Given the description of an element on the screen output the (x, y) to click on. 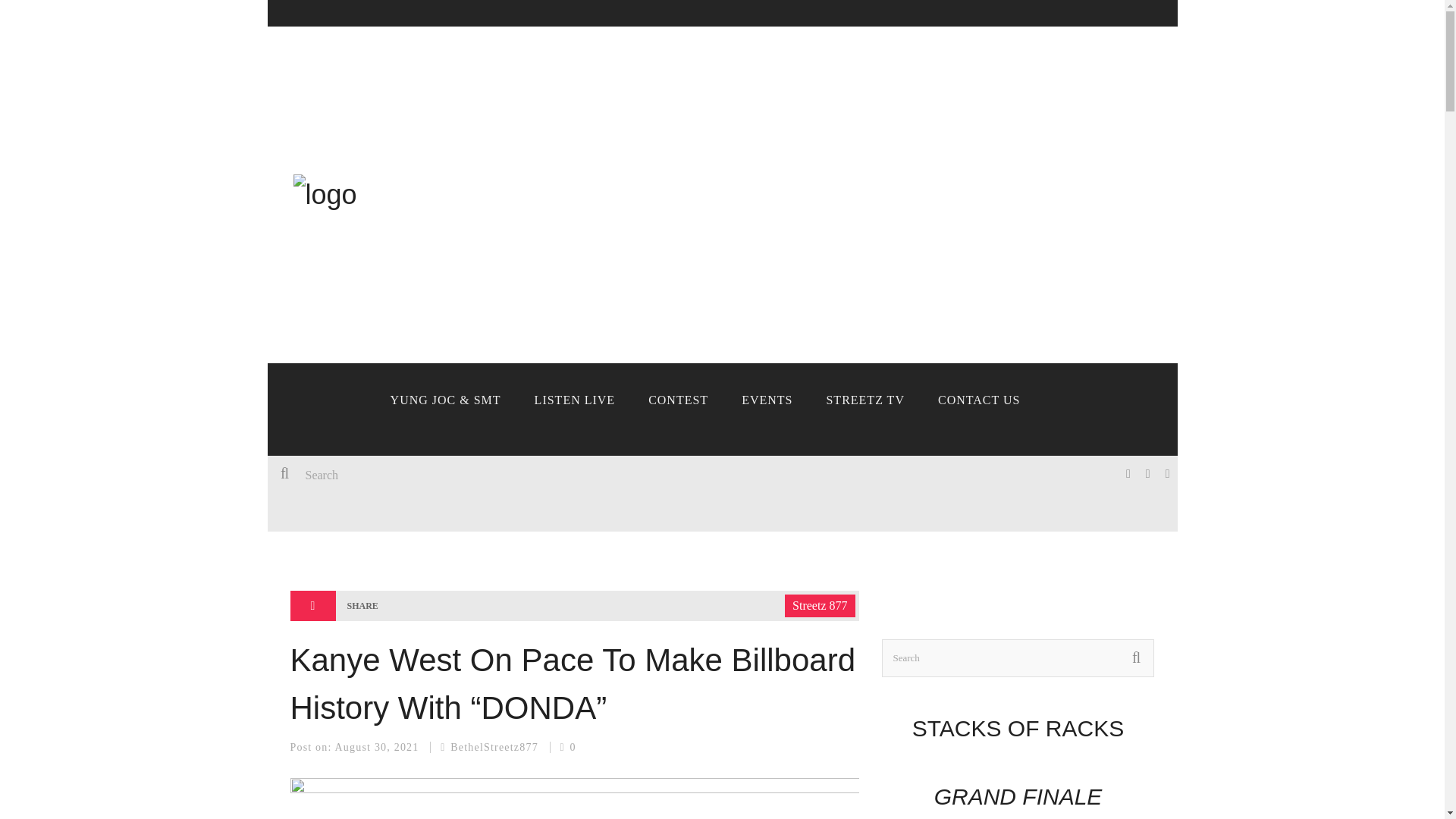
CONTEST (678, 400)
Search (494, 475)
Search (1018, 657)
STREETZ TV (864, 400)
LISTEN LIVE (574, 400)
CONTACT US (979, 400)
EVENTS (767, 400)
Posts by BethelStreetz877 (493, 747)
